Given the description of an element on the screen output the (x, y) to click on. 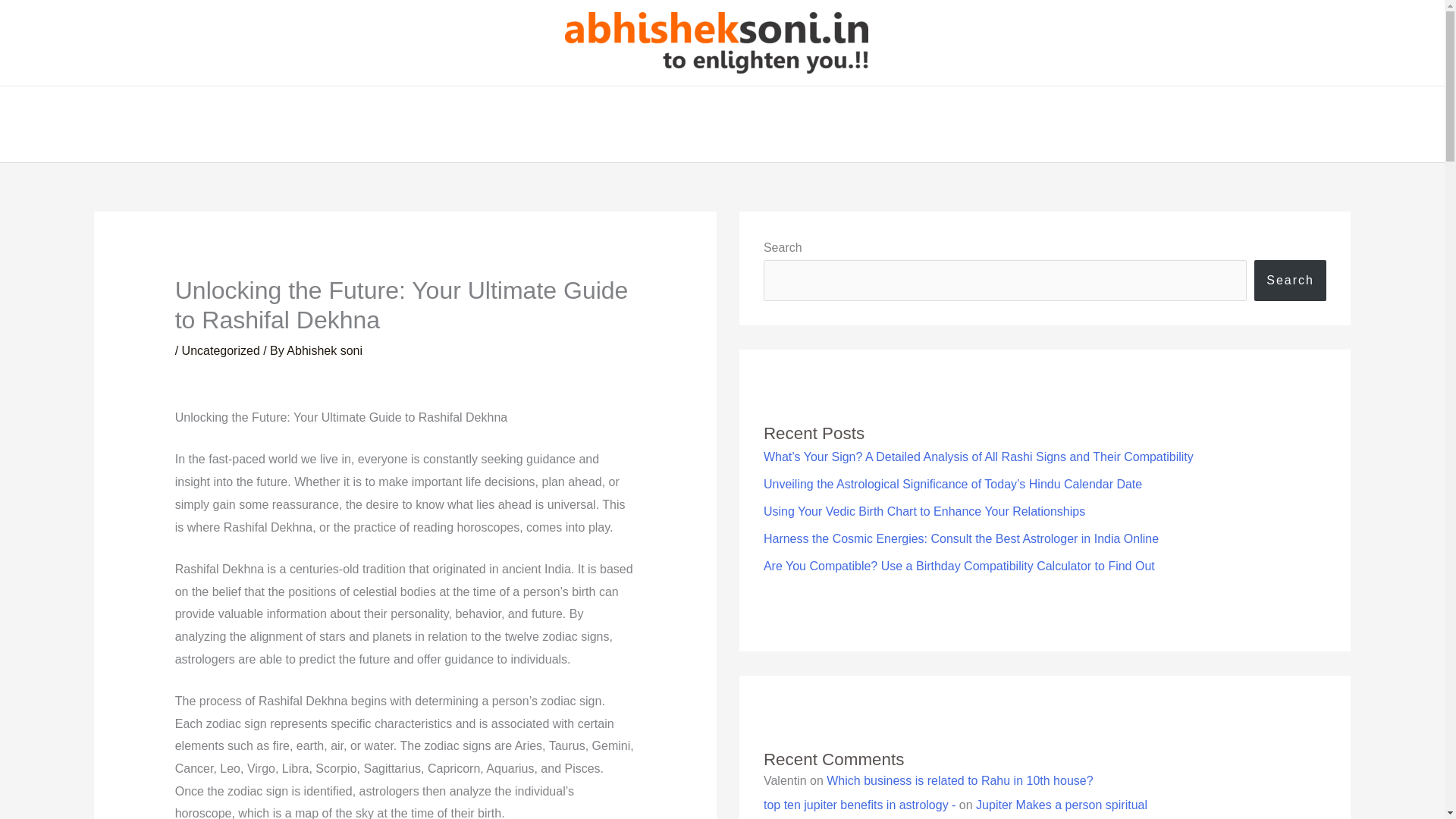
CONTACT US (940, 124)
BLOG (704, 124)
Jupiter Makes a person spiritual (1061, 804)
Abhishek soni (324, 350)
Uncategorized (221, 350)
BOOK APPOINTMENT  (812, 124)
Search (1289, 280)
Which business is related to Rahu in 10th house? (960, 780)
ABOUT US (555, 124)
Using Your Vedic Birth Chart to Enhance Your Relationships (923, 511)
View all posts by Abhishek soni (324, 350)
HOME (481, 124)
top ten jupiter benefits in astrology - (858, 804)
